Given the description of an element on the screen output the (x, y) to click on. 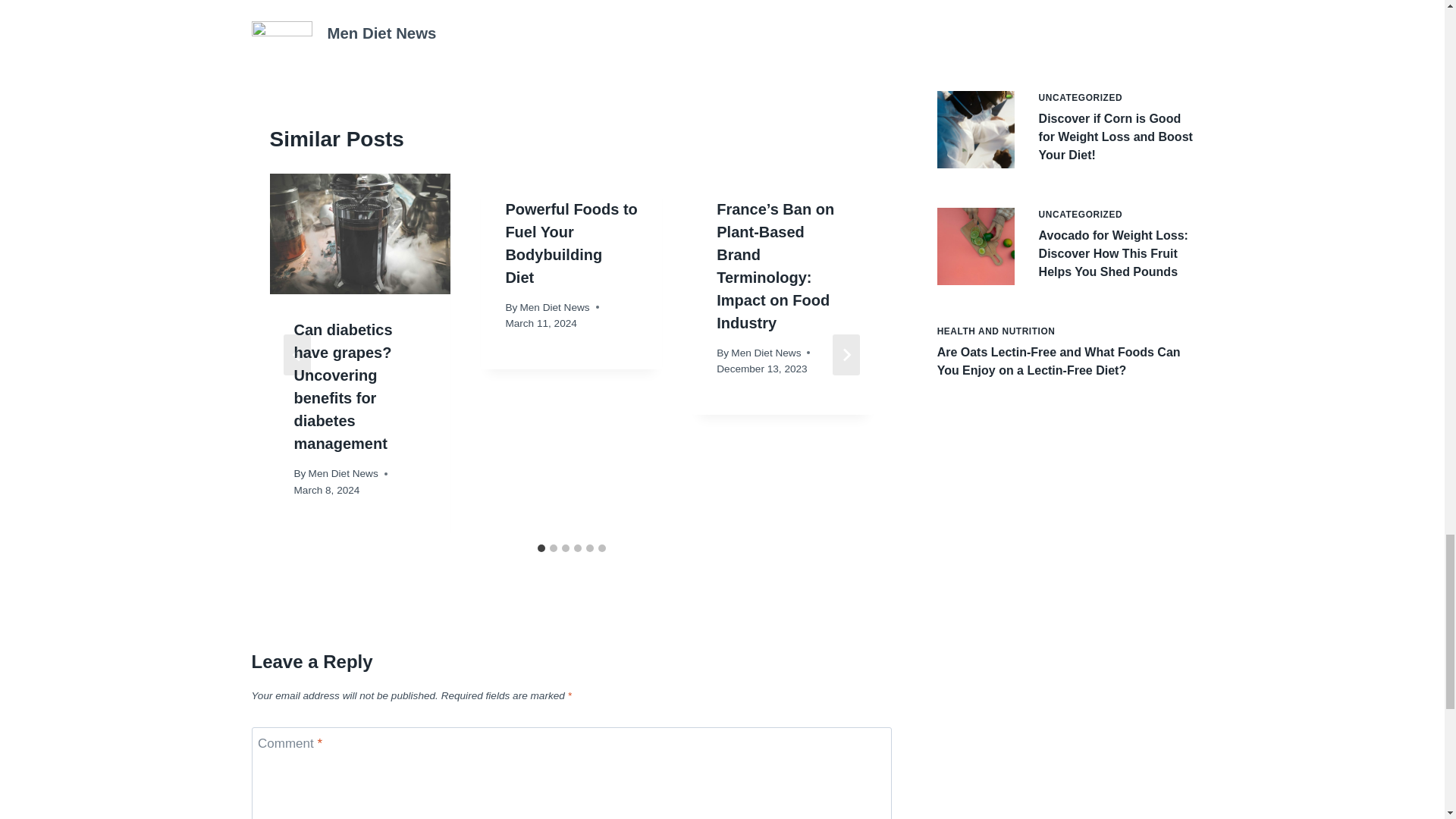
Men Diet News (765, 352)
Men Diet News (381, 33)
Posts by Men Diet News (381, 33)
Men Diet News (343, 473)
Men Diet News (554, 307)
Powerful Foods to Fuel Your Bodybuilding Diet  (571, 242)
